Given the description of an element on the screen output the (x, y) to click on. 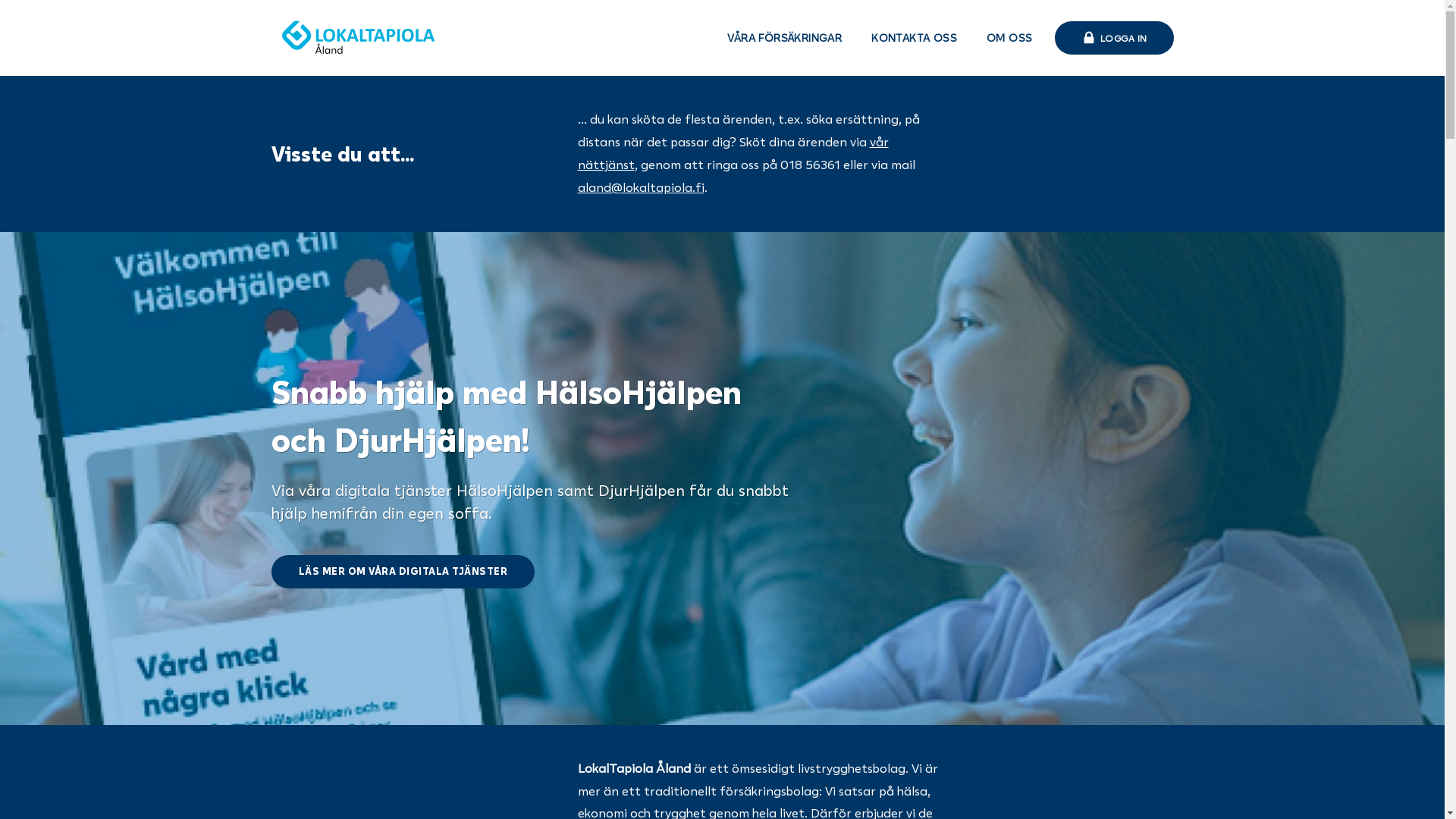
aland@lokaltapiola.fi Element type: text (640, 186)
LOGGA IN Element type: text (1113, 37)
OM OSS Element type: text (1009, 37)
KONTAKTA OSS Element type: text (913, 37)
